Given the description of an element on the screen output the (x, y) to click on. 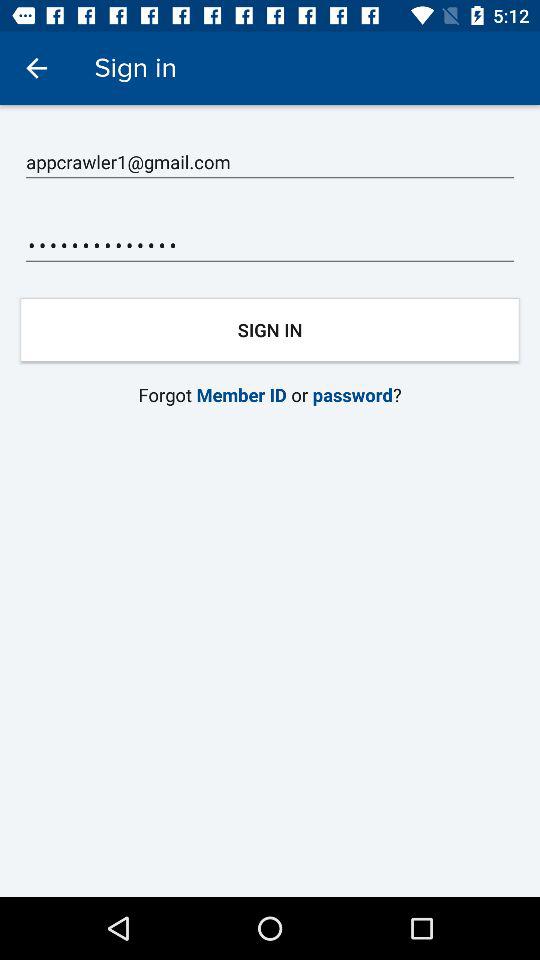
flip to the appcrawler1@gmail.com icon (270, 162)
